Given the description of an element on the screen output the (x, y) to click on. 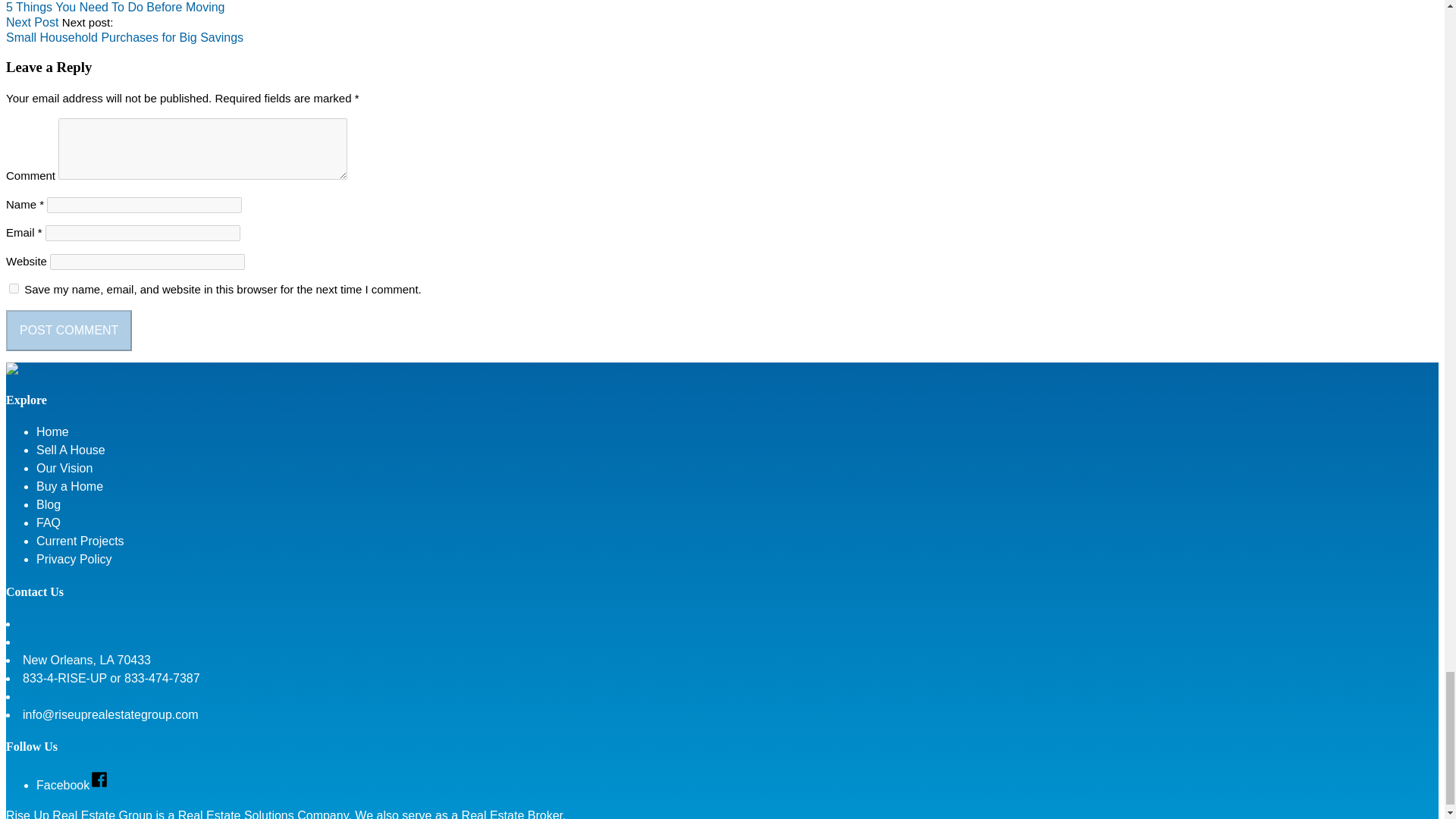
yes (13, 288)
Post Comment (68, 330)
